Given the description of an element on the screen output the (x, y) to click on. 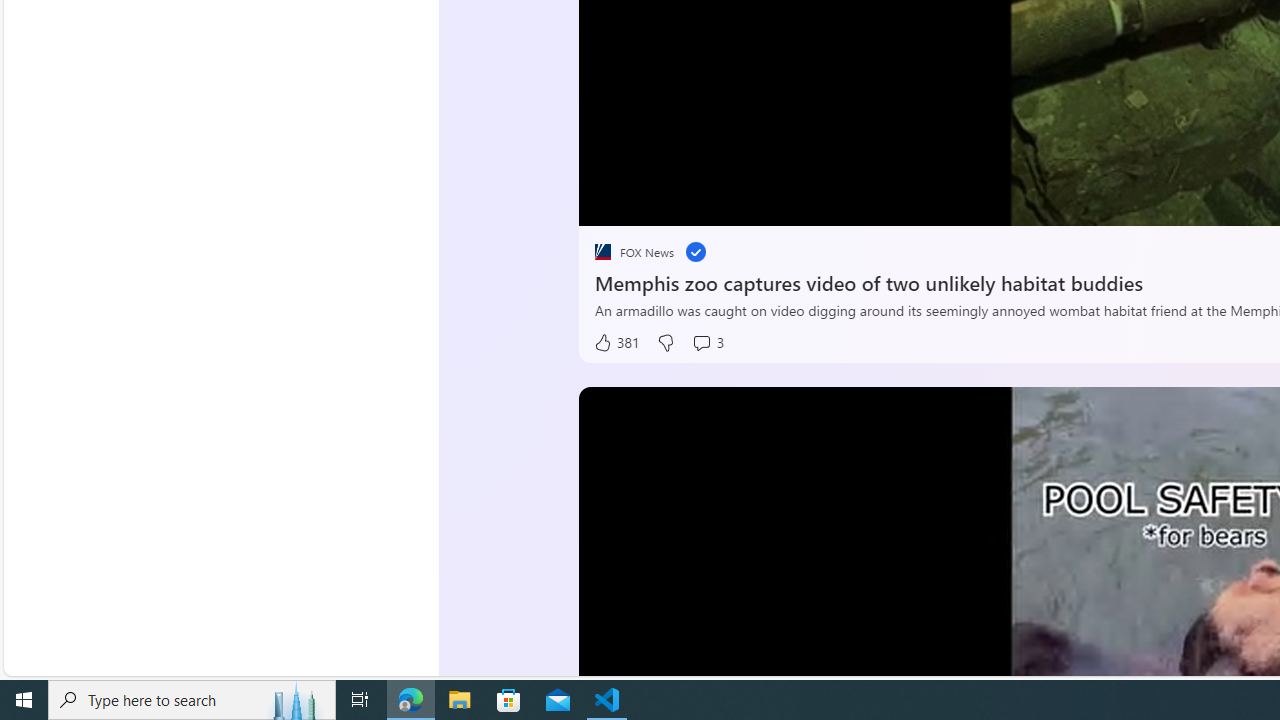
placeholder FOX News (633, 252)
Seek Forward (688, 203)
placeholder (601, 252)
Pause (607, 203)
View comments 3 Comment (707, 343)
To get missing image descriptions, open the context menu. (648, 202)
Dislike (664, 343)
Seek Back (648, 203)
381 Like (615, 343)
